Given the description of an element on the screen output the (x, y) to click on. 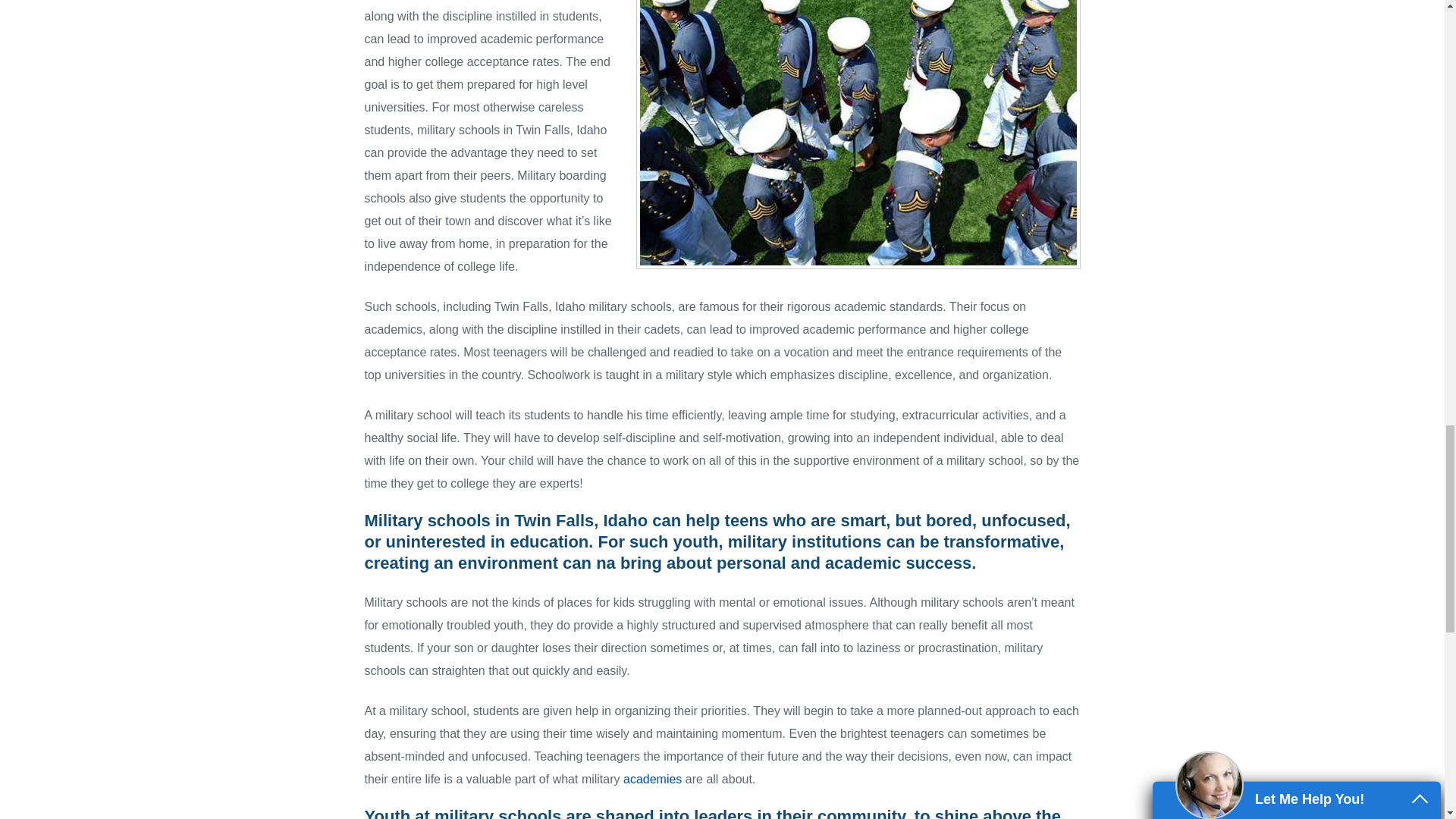
academies (652, 779)
